Given the description of an element on the screen output the (x, y) to click on. 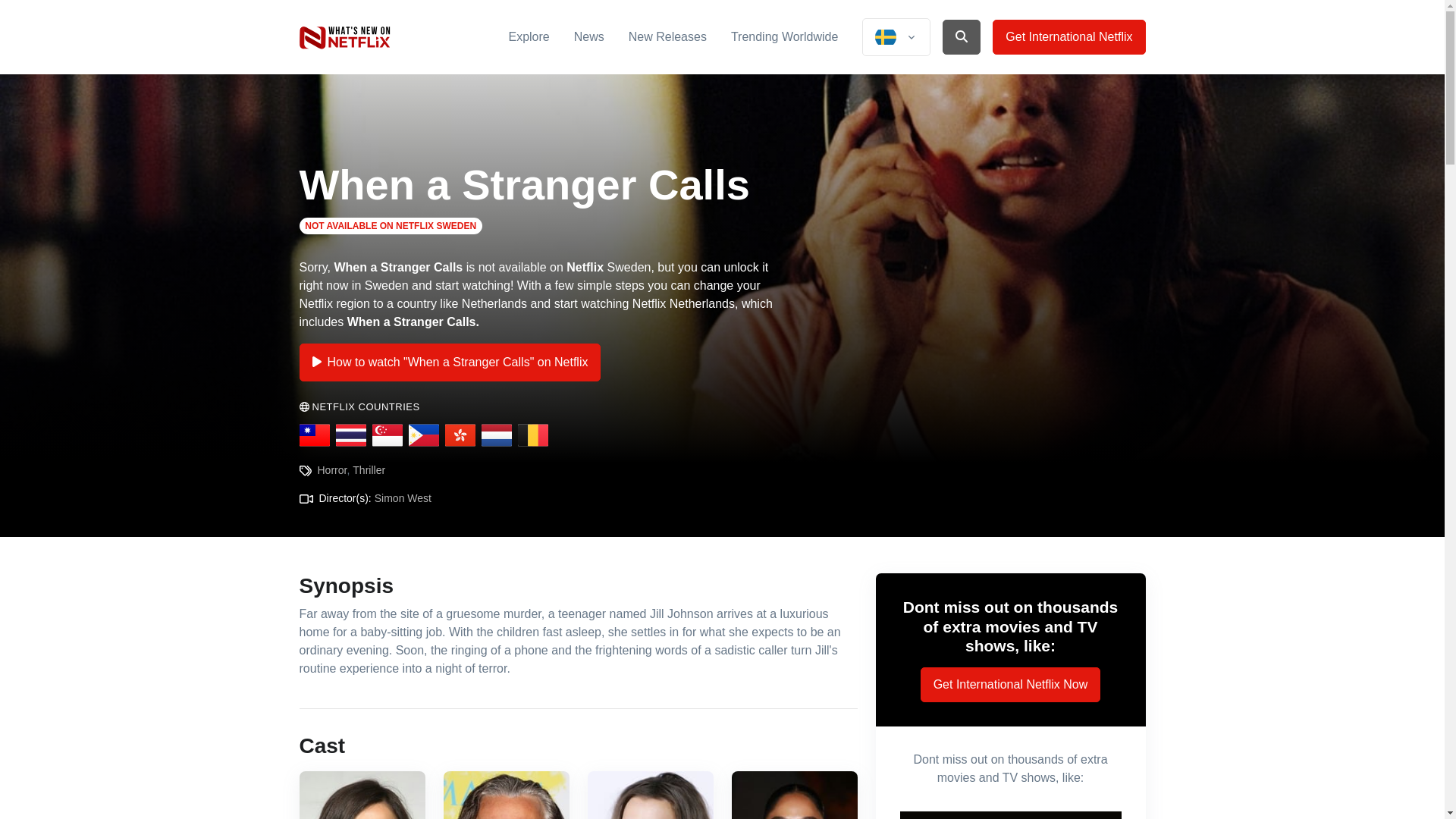
Taiwan (313, 435)
Singapore (386, 435)
Netherlands (495, 435)
Hong Kong (459, 435)
New Releases (668, 36)
Thailand (349, 435)
Trending Worldwide (784, 36)
Philippines (422, 435)
Explore (528, 36)
News (588, 36)
